Given the description of an element on the screen output the (x, y) to click on. 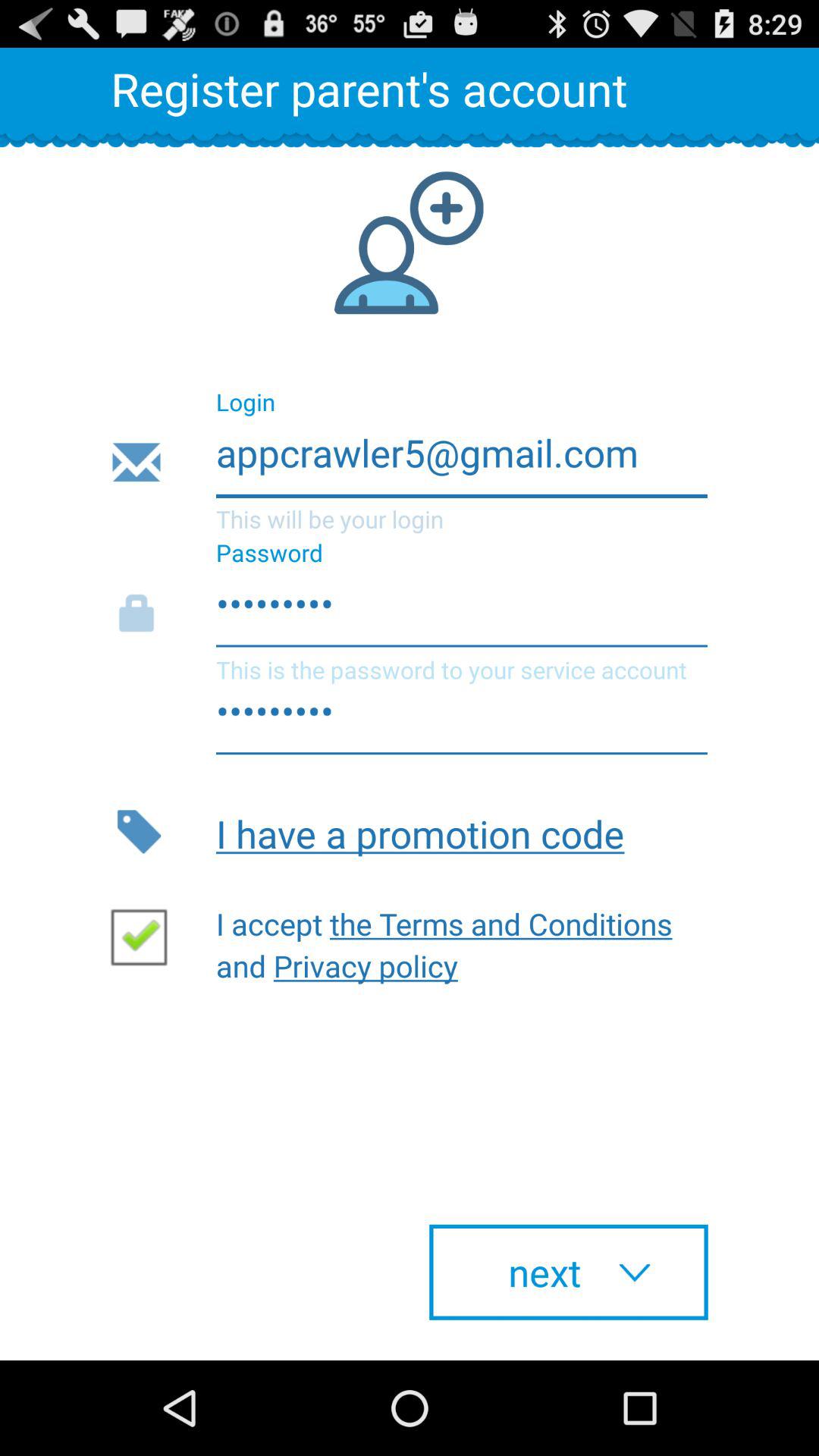
turn off i accept the (451, 940)
